Given the description of an element on the screen output the (x, y) to click on. 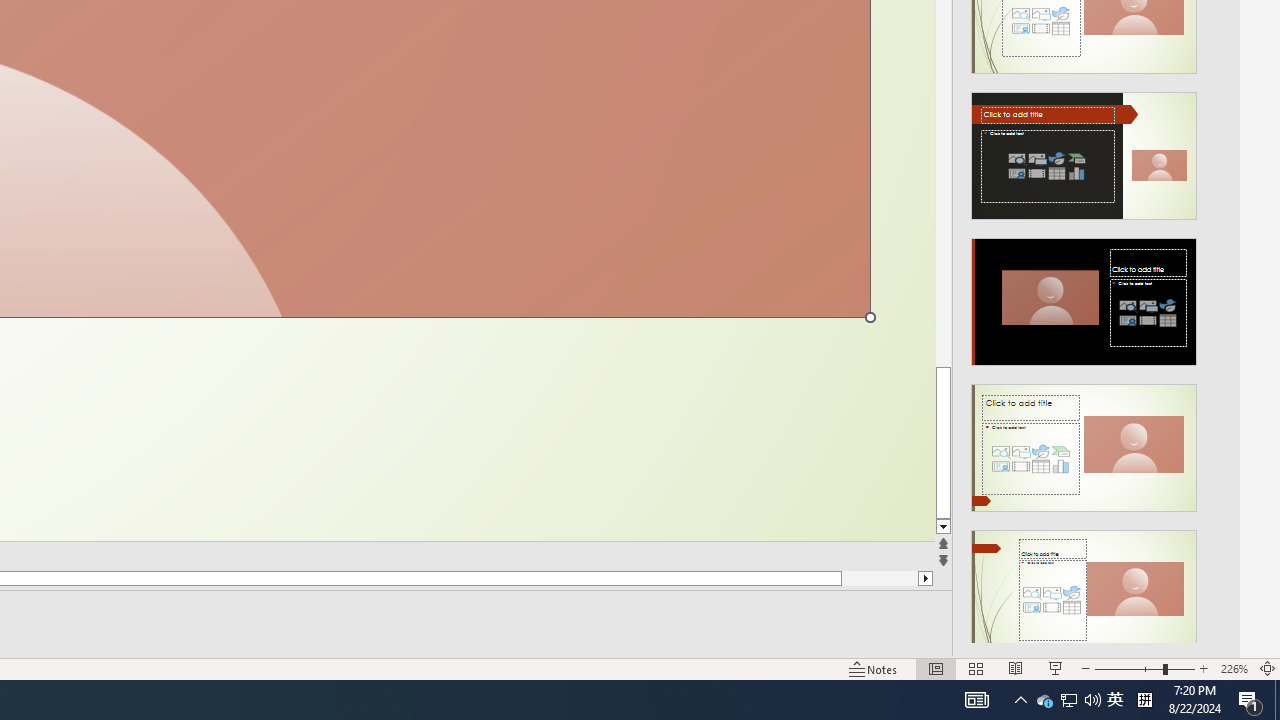
Zoom 226% (1234, 668)
